Given the description of an element on the screen output the (x, y) to click on. 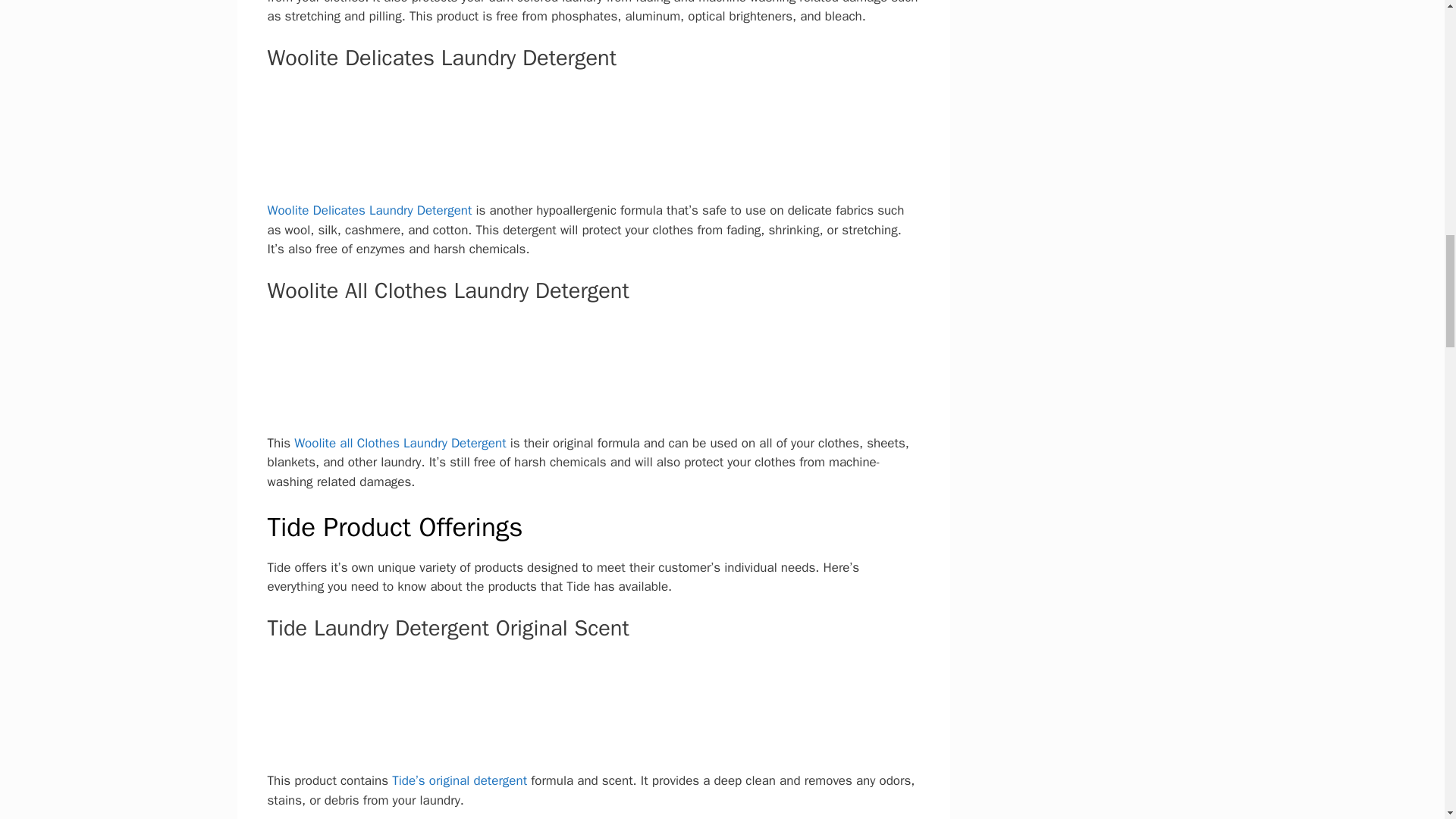
90fl oz of Woolite All Clothes, 60 Loads, Original Scent (592, 361)
90fl oz of Woolite All Clothes, 60 Loads, Original Scent (592, 375)
Woolite Delicates Laundry Detergent (368, 210)
Woolite all Clothes Laundry Detergent (399, 442)
